Given the description of an element on the screen output the (x, y) to click on. 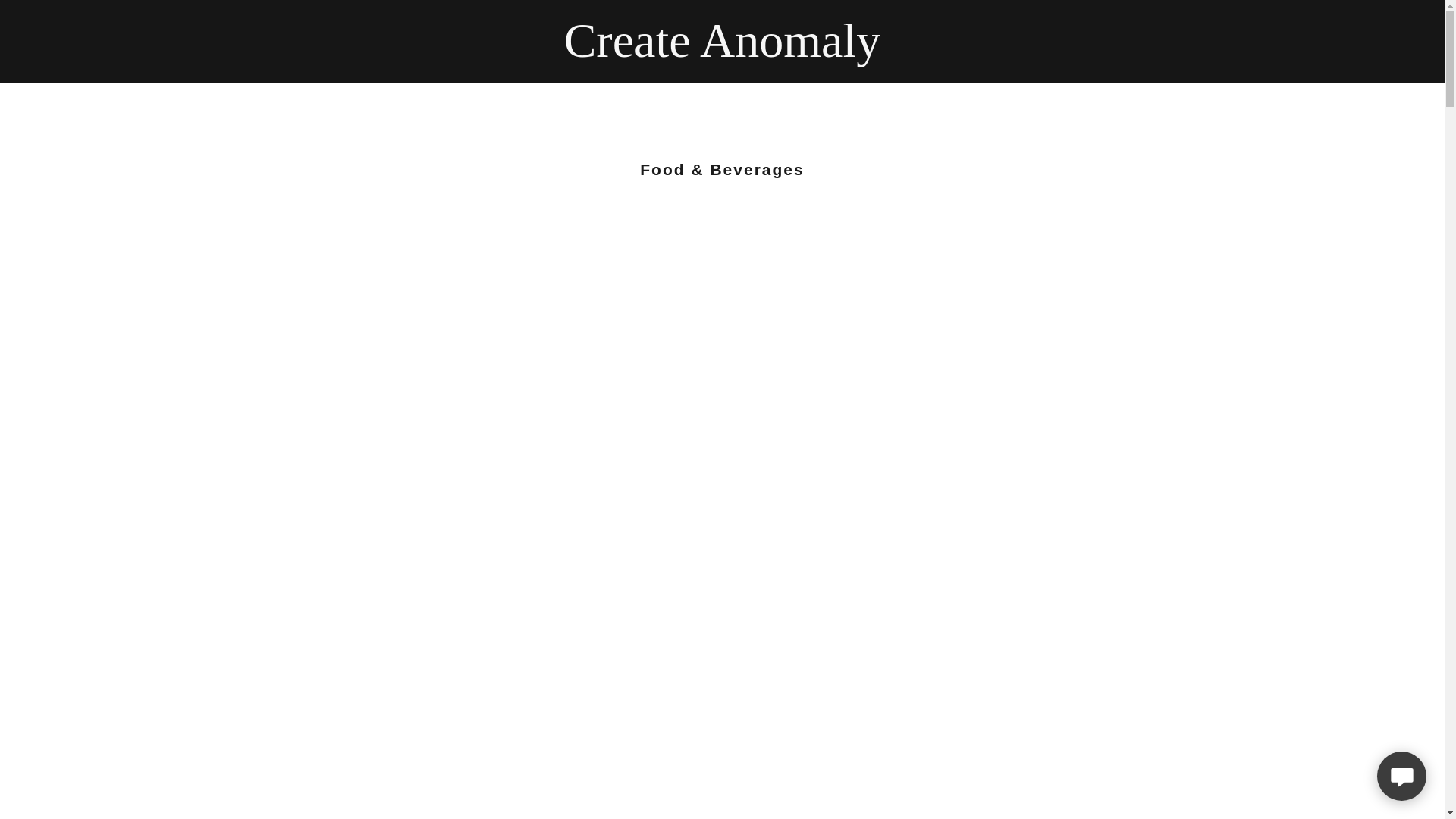
Create Anomaly (722, 52)
Create Anomaly (722, 52)
